Given the description of an element on the screen output the (x, y) to click on. 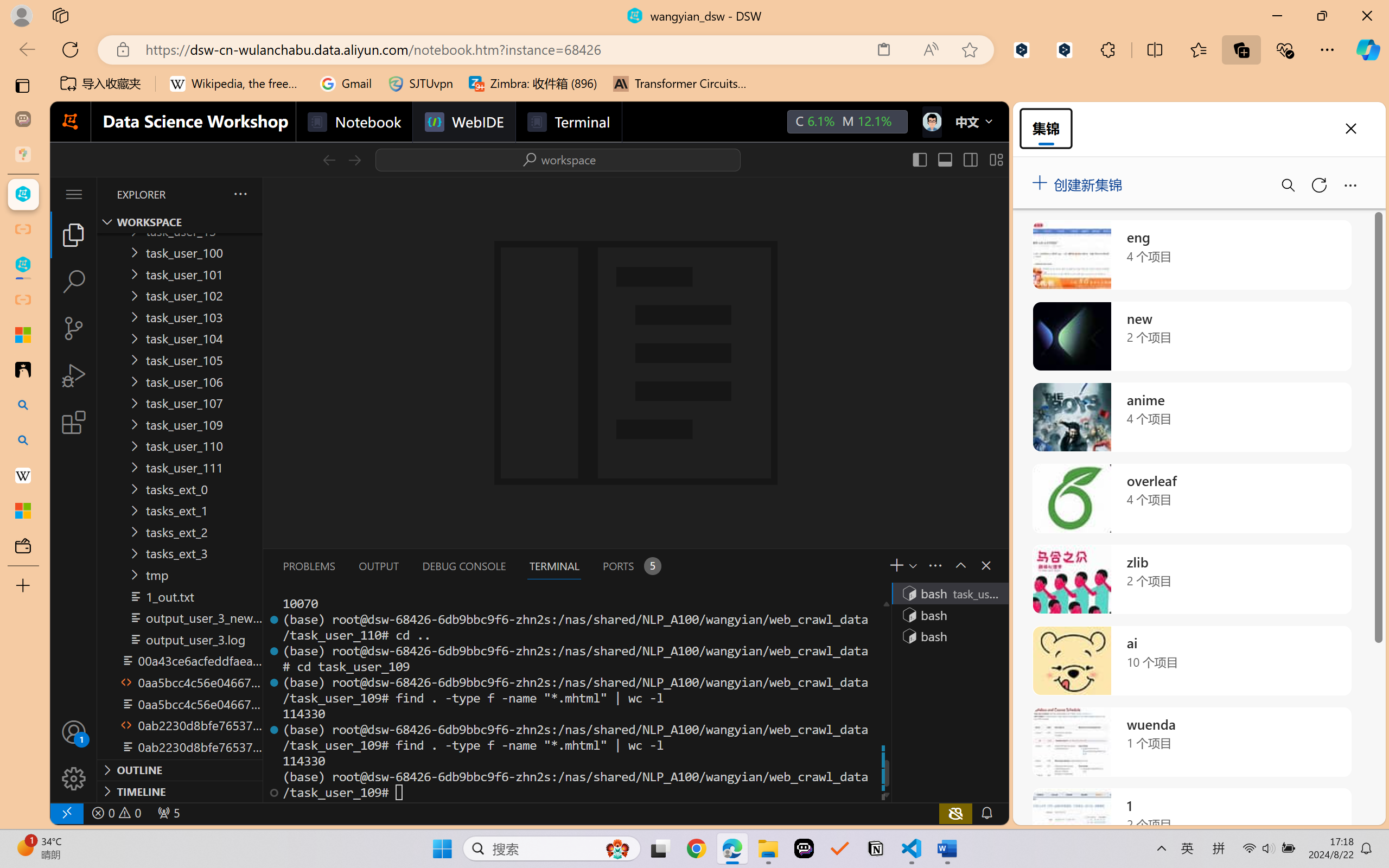
Extensions (Ctrl+Shift+X) (73, 422)
Explorer (Ctrl+Shift+E) (73, 234)
Launch Profile... (911, 565)
wangyian_dsw - DSW (22, 194)
Adjust indents and spacing - Microsoft Support (22, 334)
Copilot (Ctrl+Shift+.) (1368, 49)
